Given the description of an element on the screen output the (x, y) to click on. 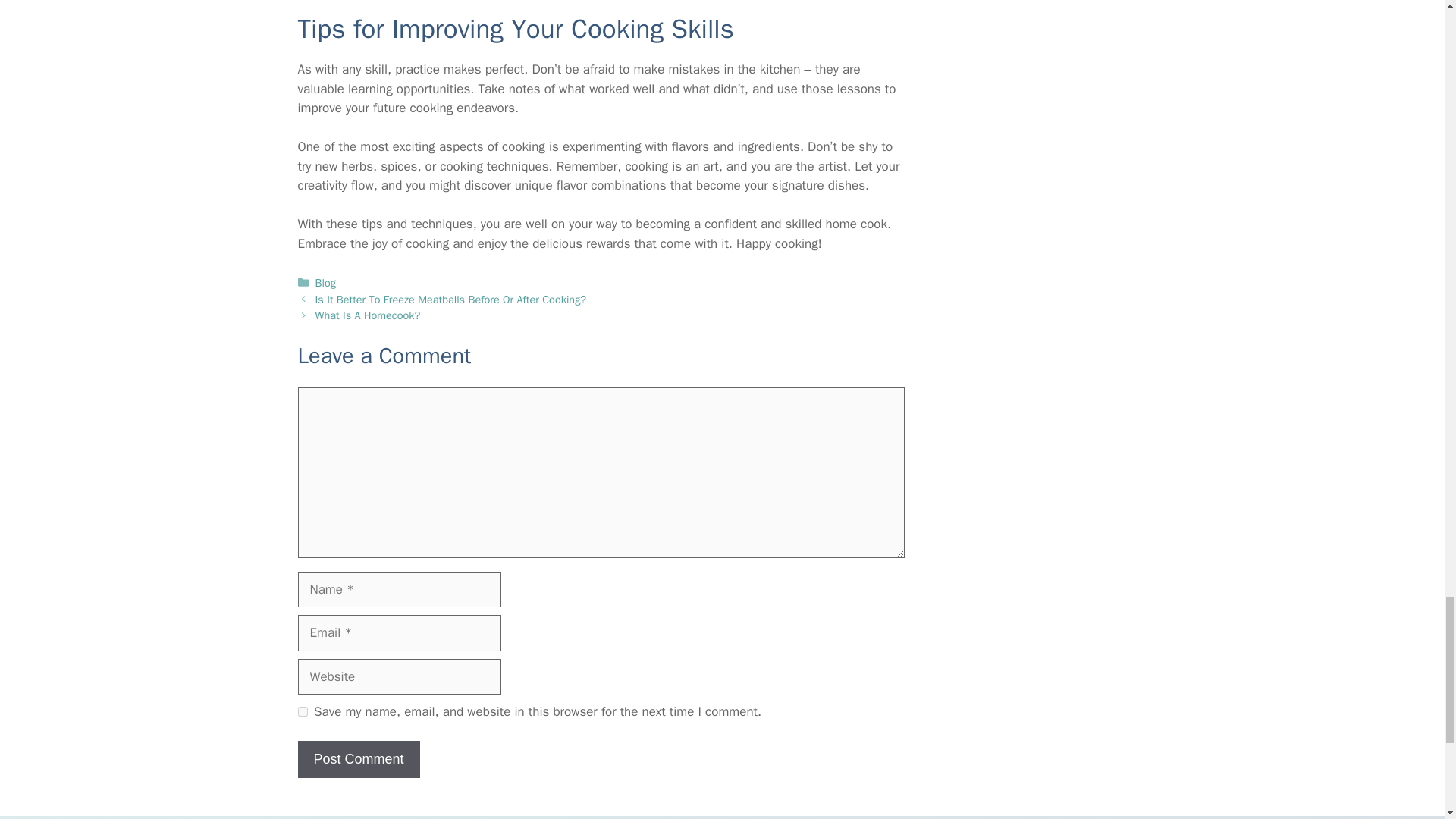
What Is A Homecook? (367, 315)
yes (302, 711)
Post Comment (358, 759)
Is It Better To Freeze Meatballs Before Or After Cooking? (450, 299)
Blog (325, 282)
Post Comment (358, 759)
